Given the description of an element on the screen output the (x, y) to click on. 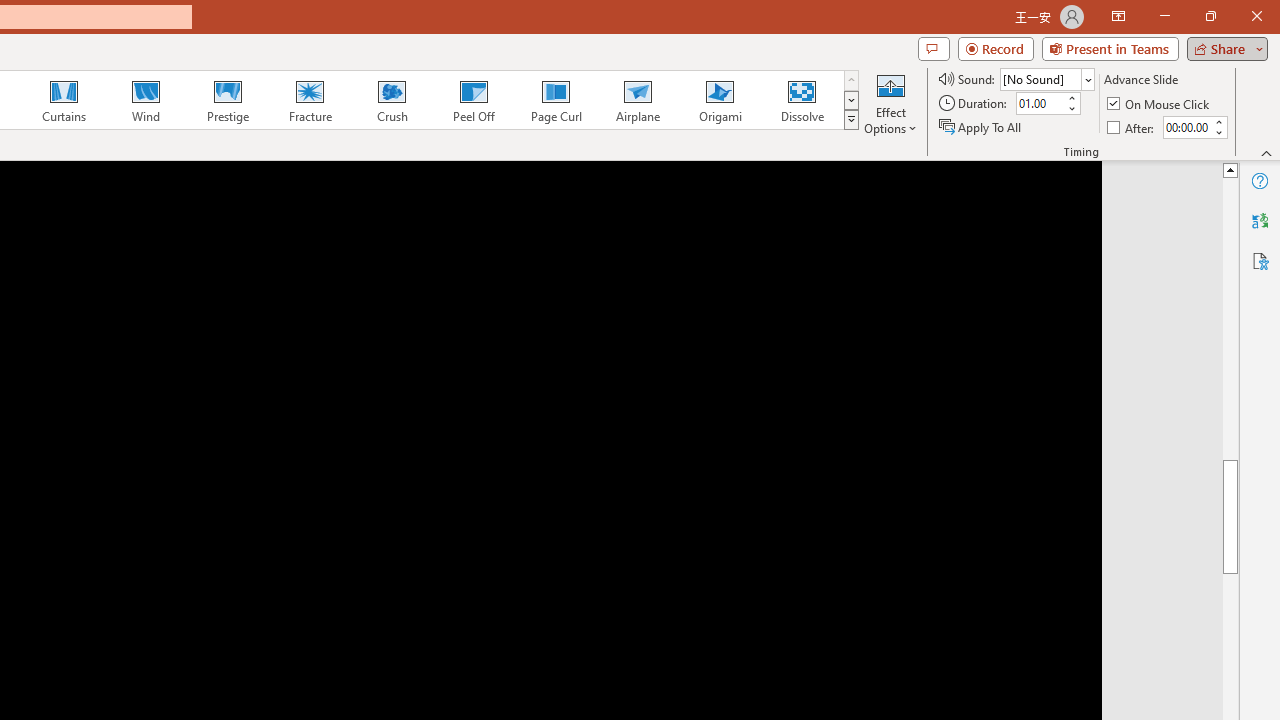
After (1131, 126)
Less (1218, 132)
Peel Off (473, 100)
Dissolve (802, 100)
Transition Effects (850, 120)
Prestige (227, 100)
